Given the description of an element on the screen output the (x, y) to click on. 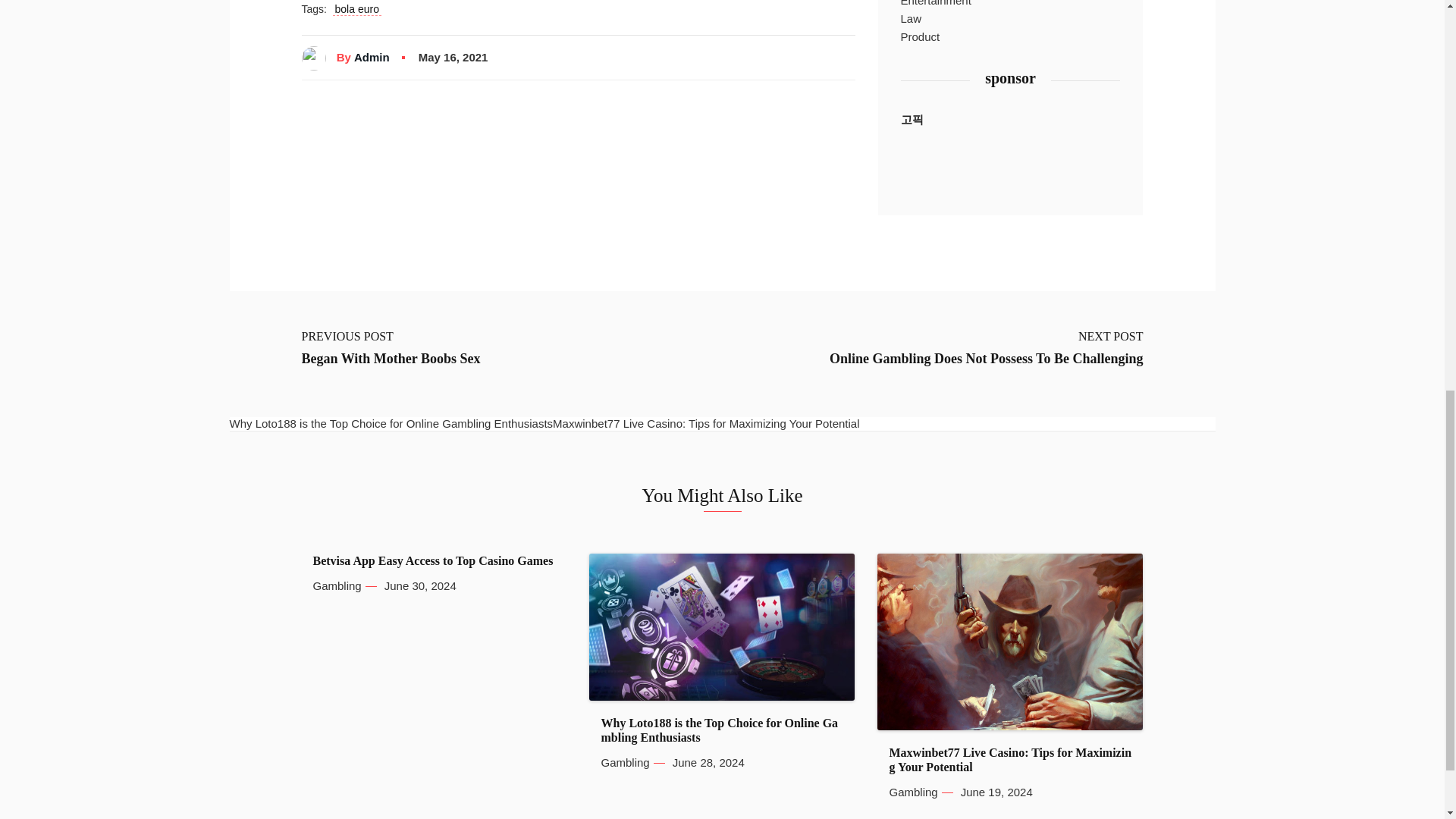
June 30, 2024 (420, 585)
Began With Mother Boobs Sex (390, 359)
Product (920, 36)
Online Gambling Does Not Possess To Be Challenging (985, 359)
bola euro (357, 9)
Admin (371, 57)
Gambling (624, 762)
Gambling (337, 585)
Law (911, 18)
Betvisa App Easy Access to Top Casino Games (433, 560)
Entertainment (936, 4)
